Given the description of an element on the screen output the (x, y) to click on. 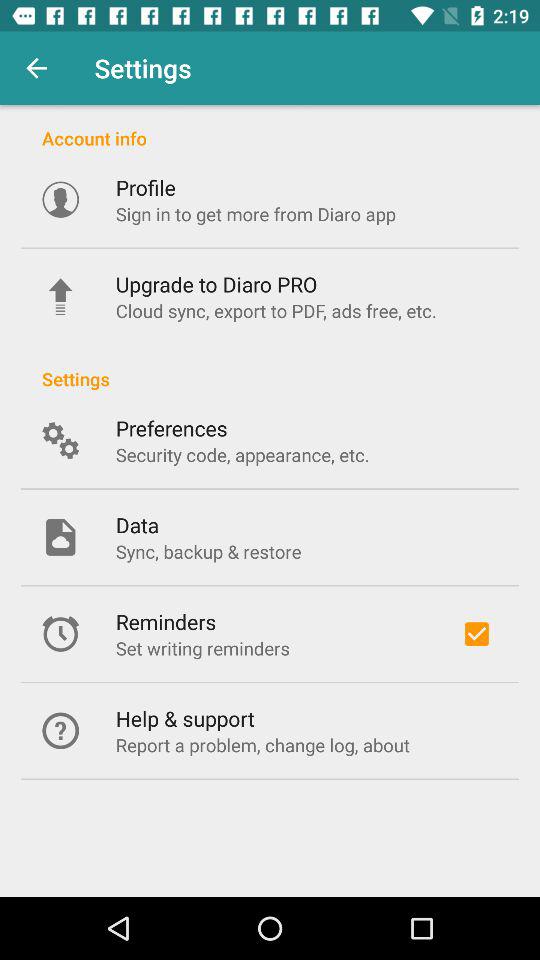
click the item above the security code appearance (171, 428)
